Given the description of an element on the screen output the (x, y) to click on. 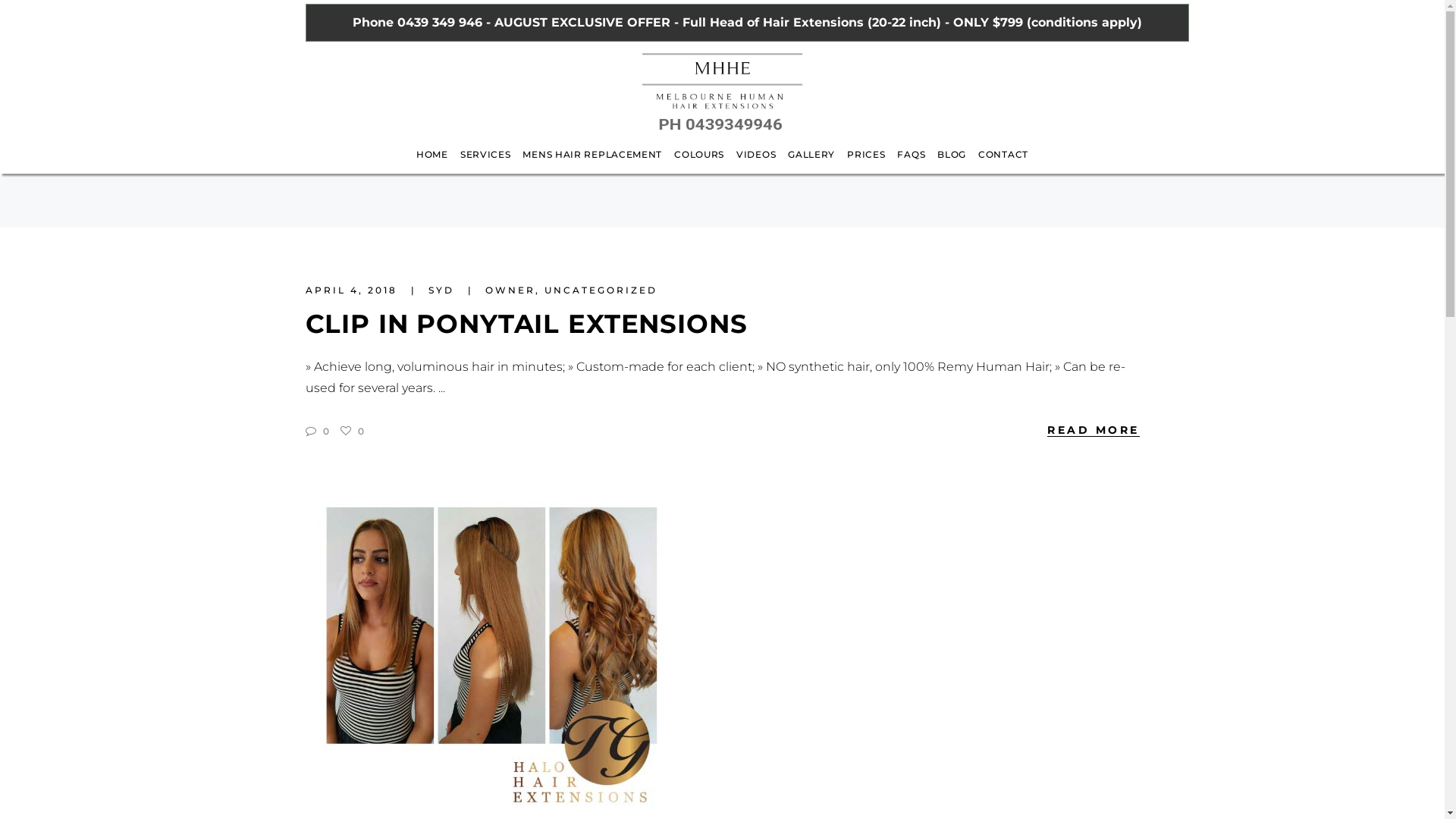
OWNER Element type: text (510, 289)
BLOG Element type: text (951, 163)
SERVICES Element type: text (485, 163)
FAQS Element type: text (911, 163)
PRICES Element type: text (865, 163)
MENS HAIR REPLACEMENT Element type: text (592, 163)
UNCATEGORIZED Element type: text (600, 289)
GALLERY Element type: text (810, 163)
VIDEOS Element type: text (755, 163)
Halo Hair Extensions Element type: hover (489, 651)
CLIP IN PONYTAIL EXTENSIONS Element type: text (525, 323)
APRIL 4, 2018 Element type: text (352, 289)
0 Element type: text (351, 430)
0 Element type: text (316, 430)
READ MORE Element type: text (1093, 429)
COLOURS Element type: text (699, 163)
HOME Element type: text (432, 163)
CONTACT Element type: text (1003, 163)
SYD Element type: text (442, 289)
